Given the description of an element on the screen output the (x, y) to click on. 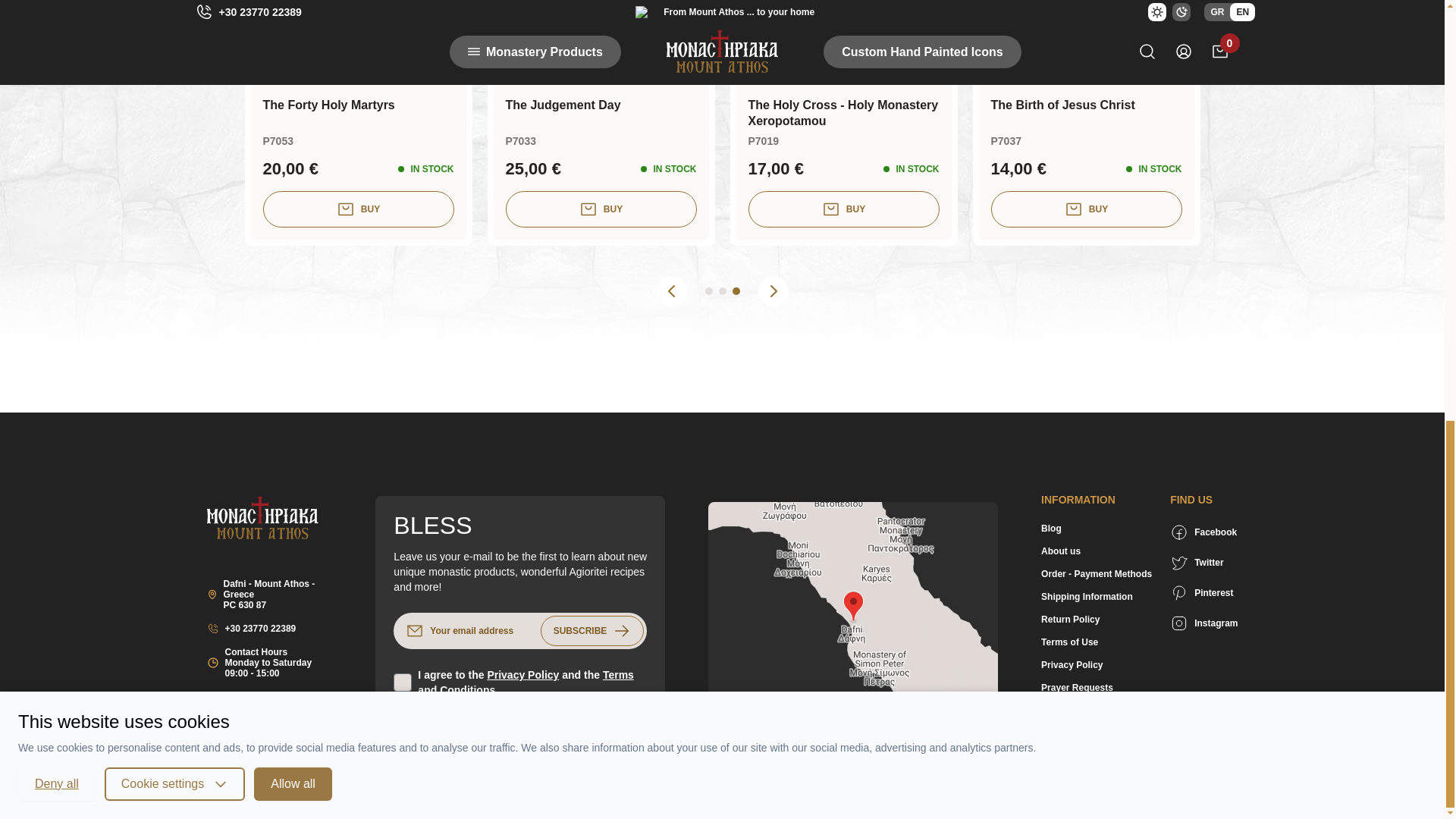
on (402, 682)
